Given the description of an element on the screen output the (x, y) to click on. 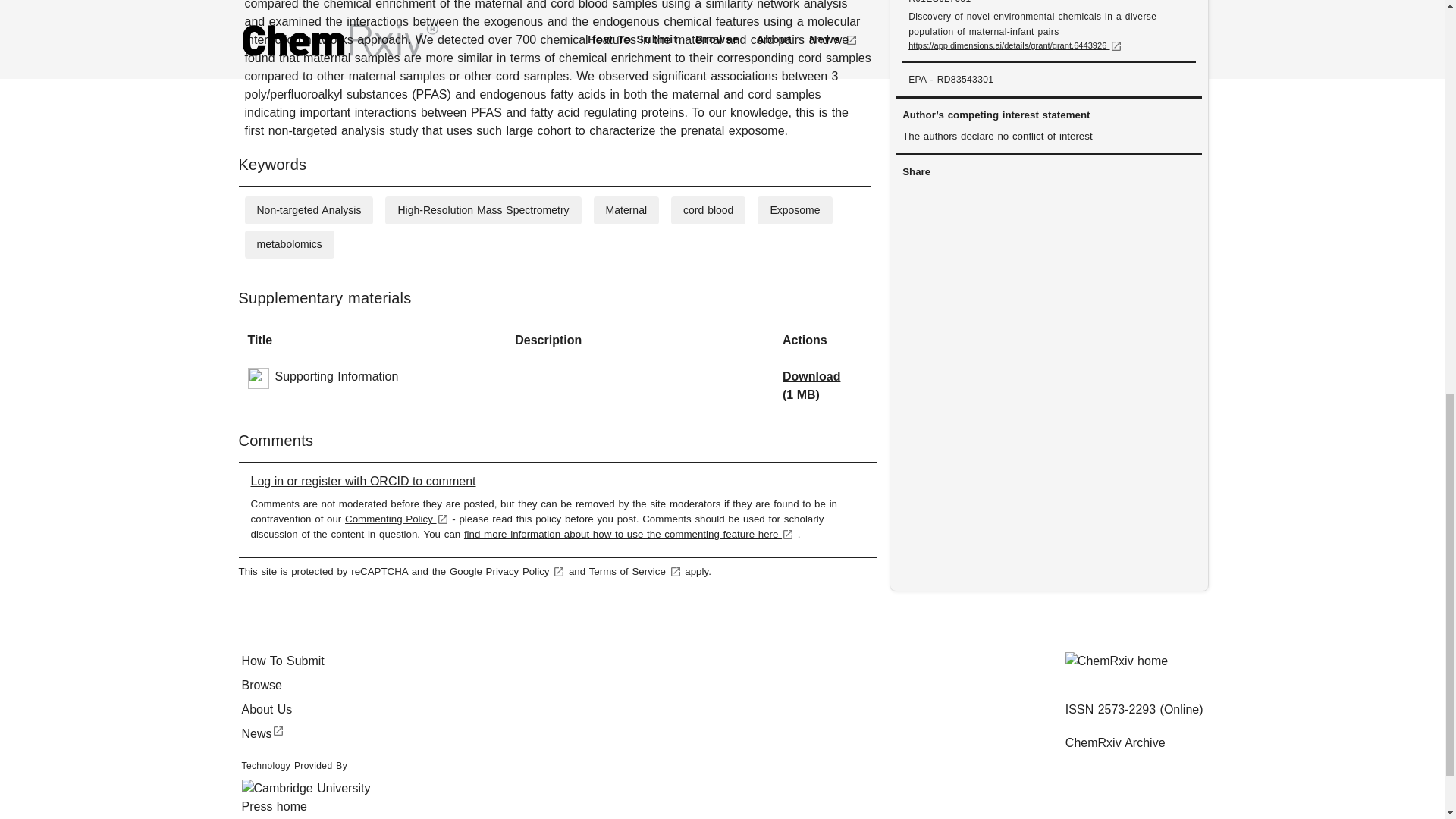
High-Resolution Mass Spectrometry (483, 209)
Non-targeted Analysis (308, 209)
metabolomics (288, 244)
Exposome (794, 209)
Maternal (625, 209)
cord blood (707, 209)
